Given the description of an element on the screen output the (x, y) to click on. 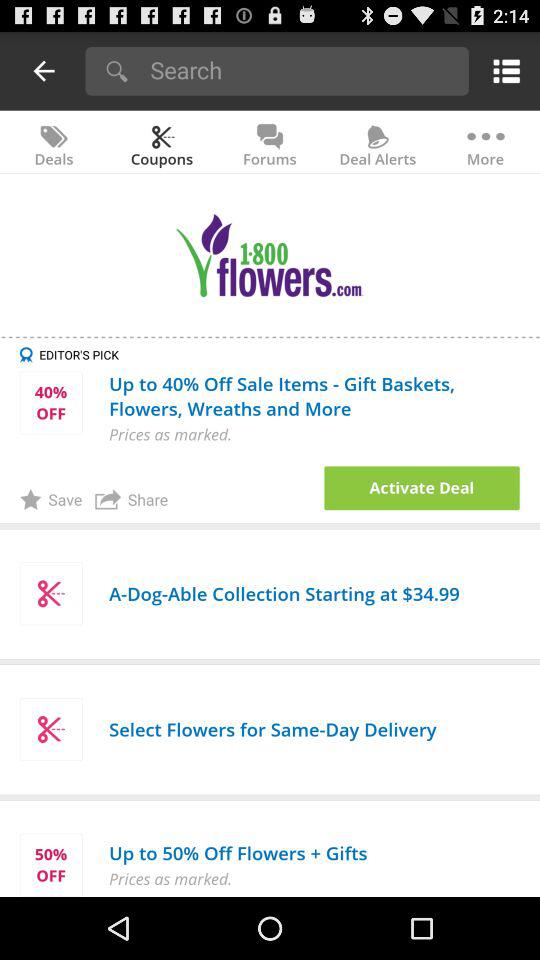
jump until the a dog able (284, 593)
